Given the description of an element on the screen output the (x, y) to click on. 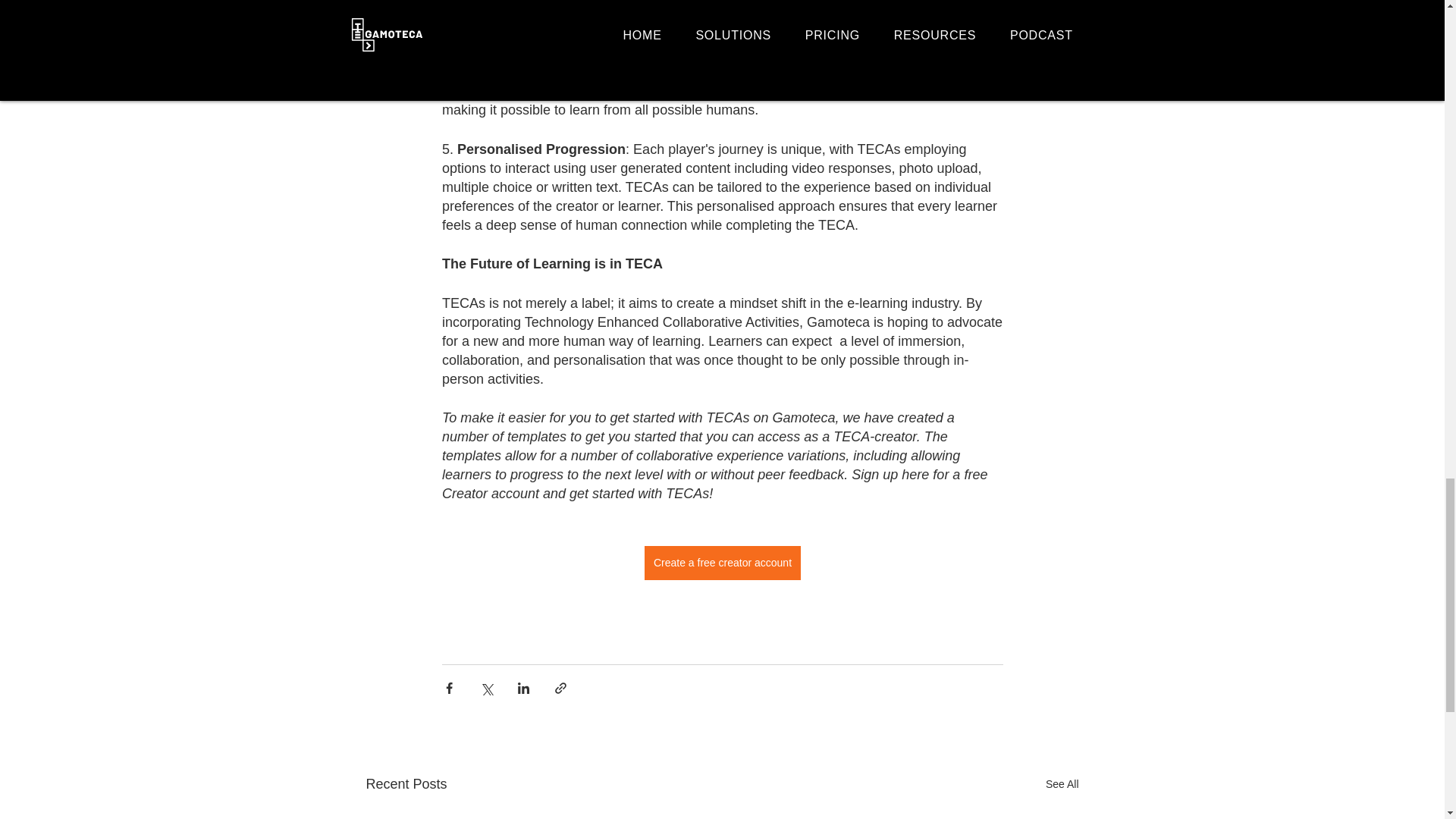
See All (1061, 784)
Create a free creator account (721, 562)
